Given the description of an element on the screen output the (x, y) to click on. 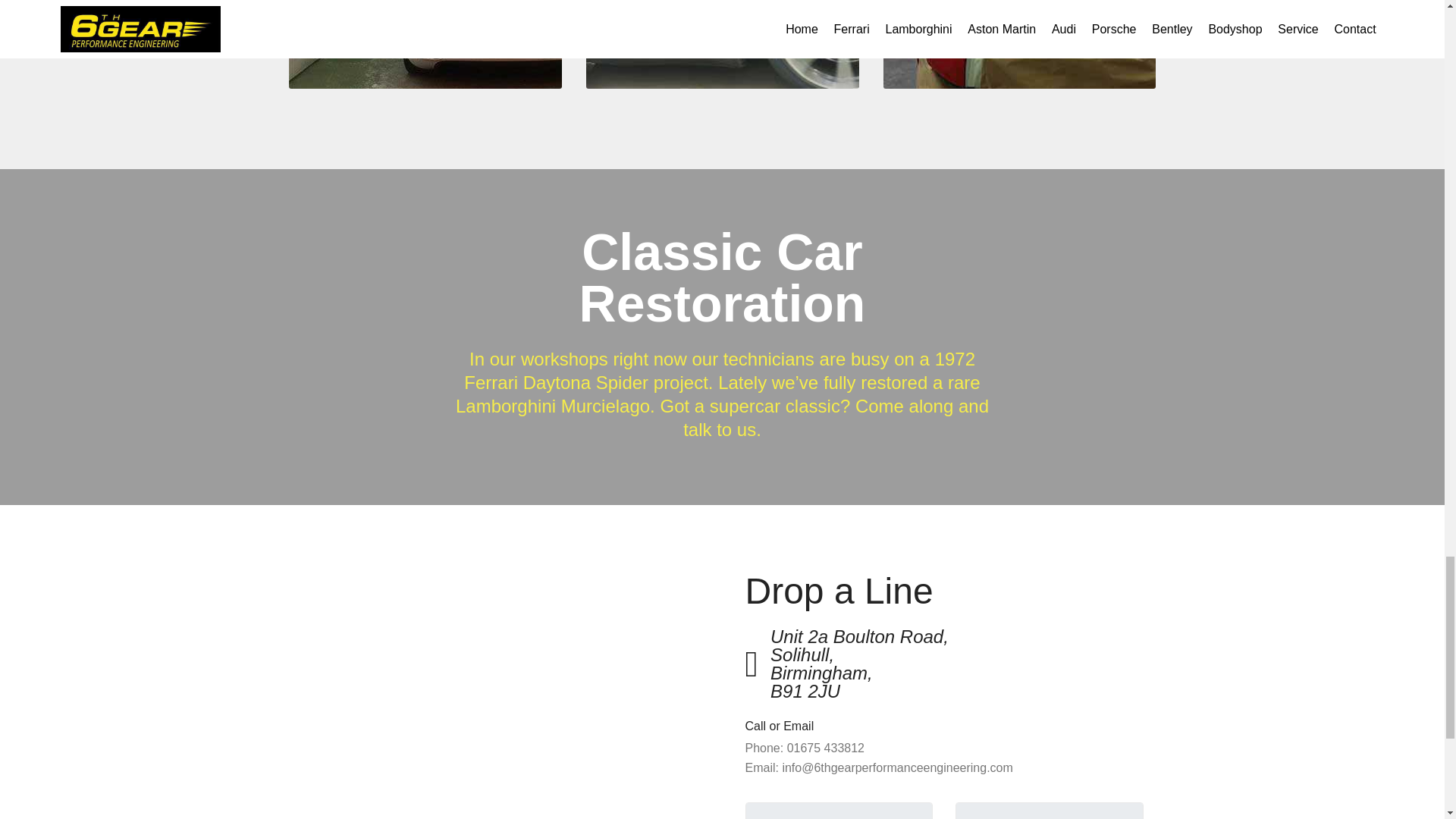
Ferrari in Spray Booth (1110, 65)
Aston Martin Wheel (743, 44)
Audi in spray booth (516, 65)
